Given the description of an element on the screen output the (x, y) to click on. 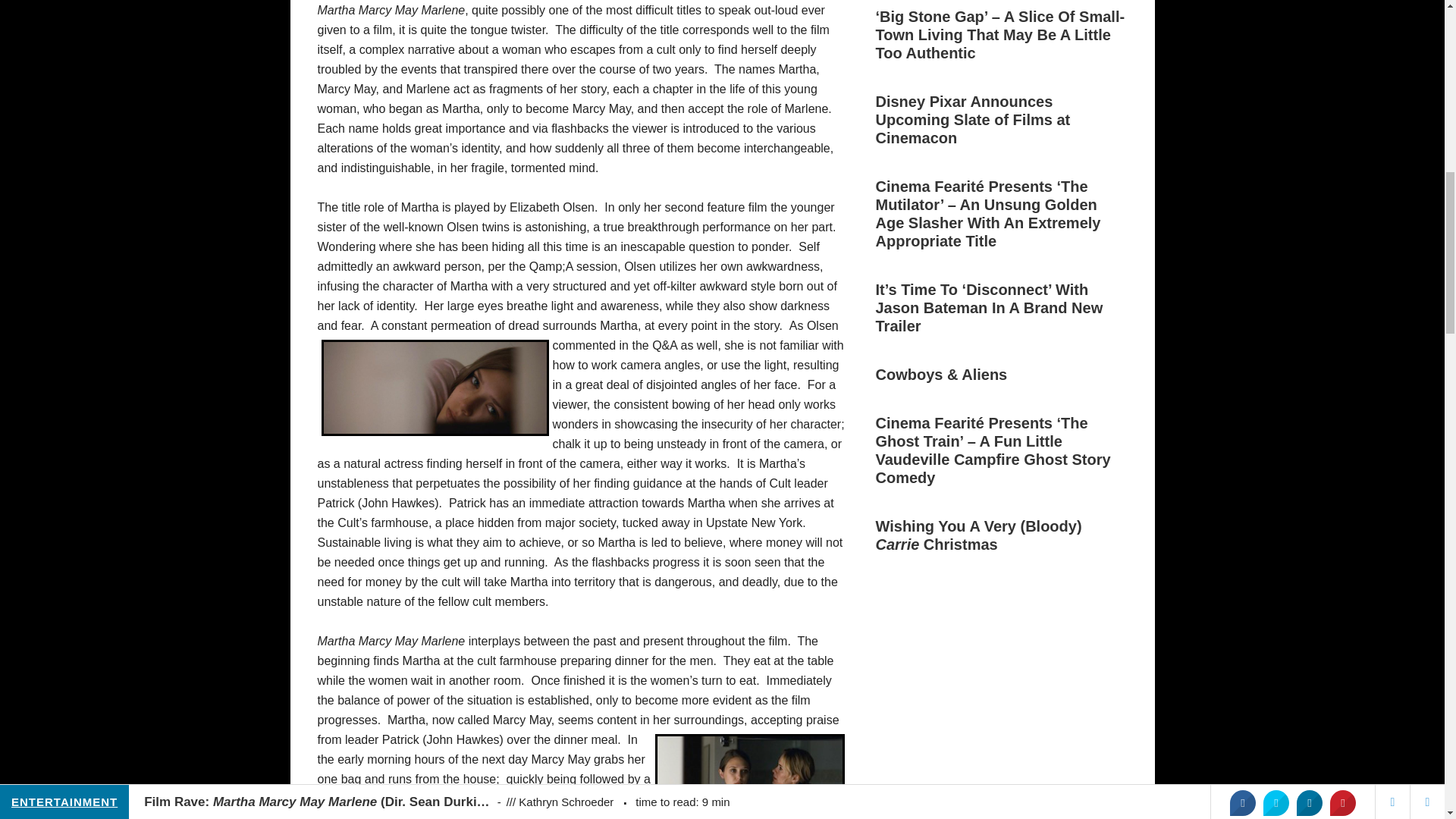
Disney Pixar Announces Upcoming Slate of Films at Cinemacon (972, 119)
